Given the description of an element on the screen output the (x, y) to click on. 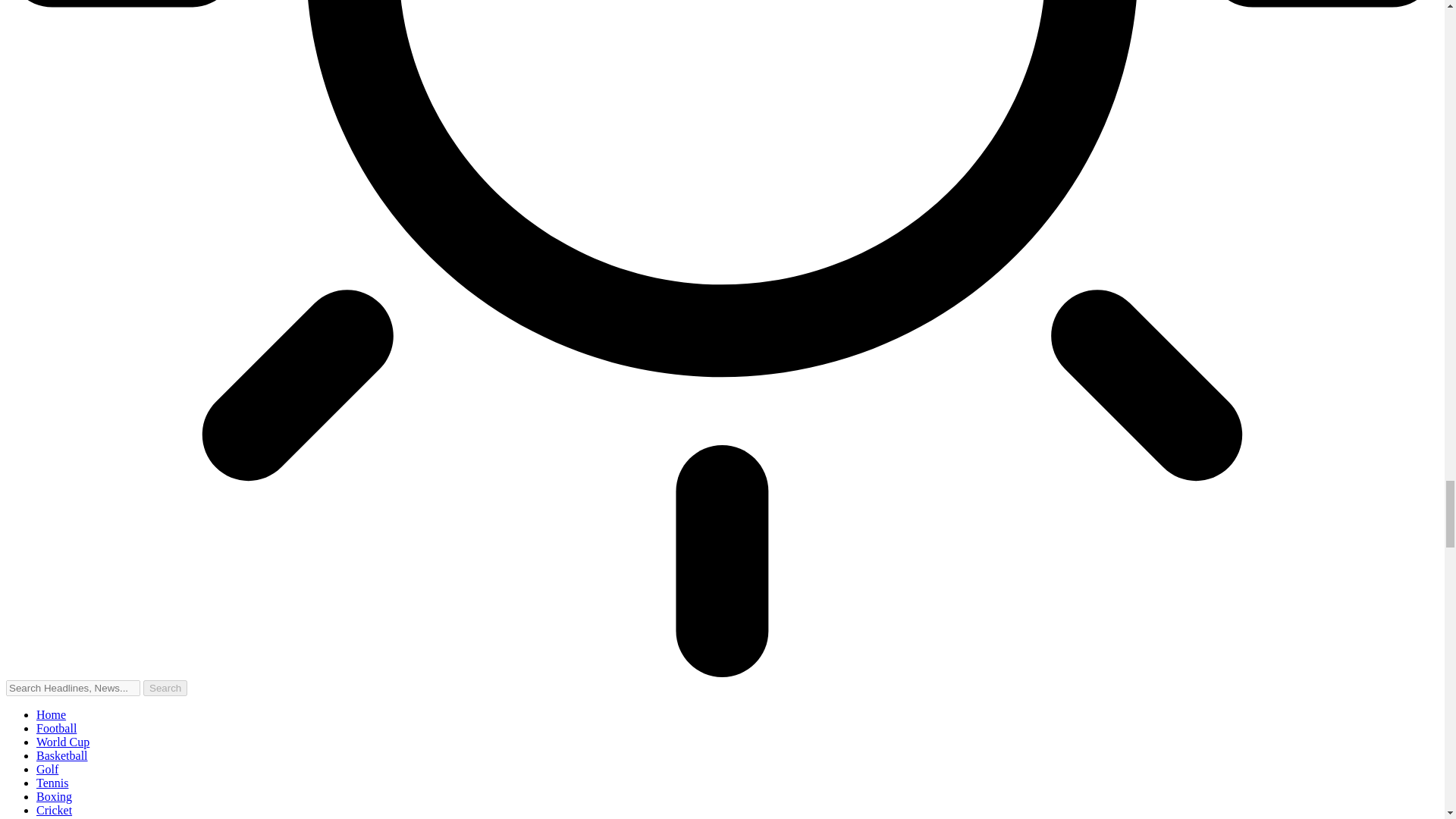
Search (164, 688)
